Given the description of an element on the screen output the (x, y) to click on. 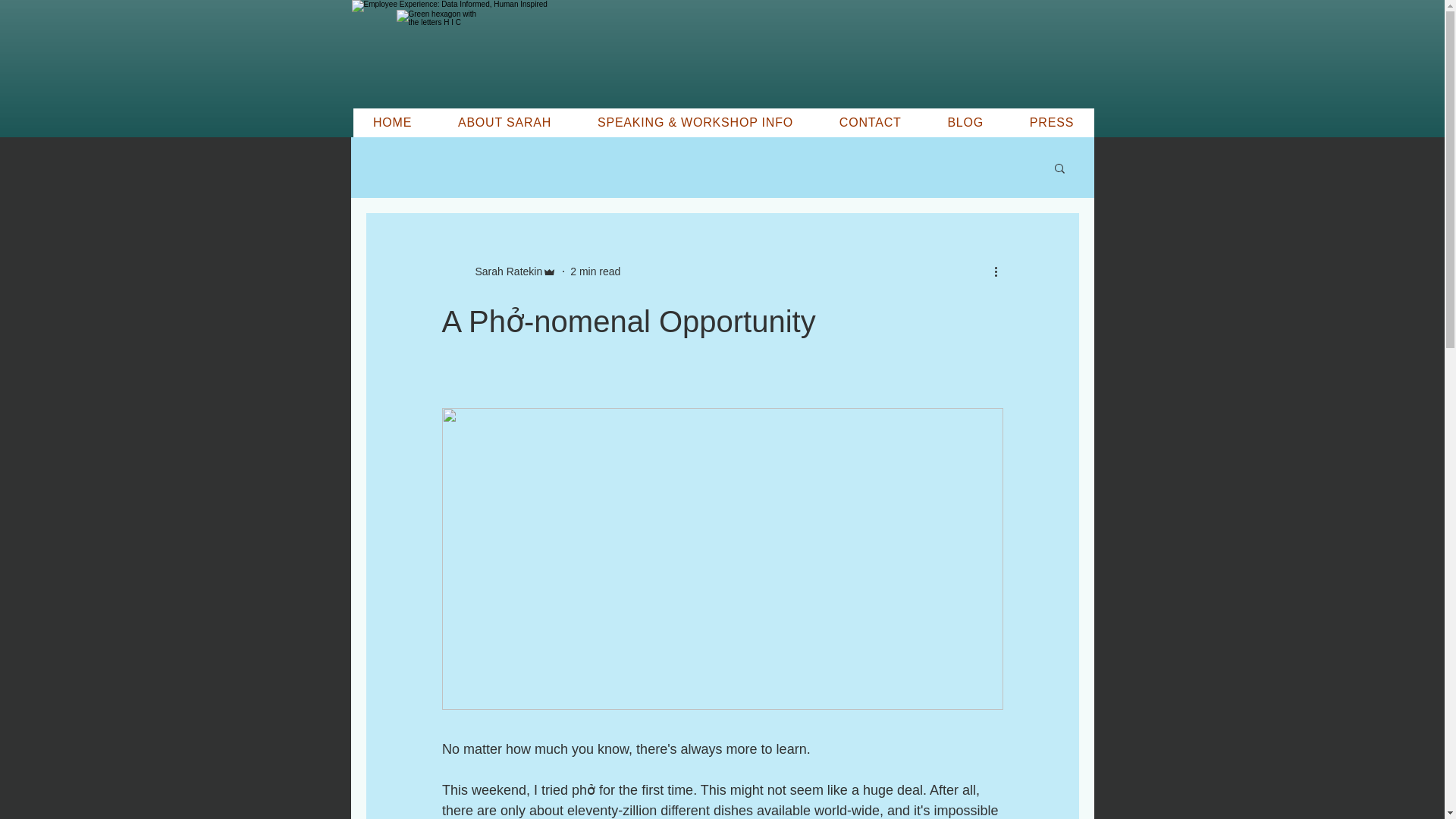
BLOG (965, 122)
PRESS (1051, 122)
2 min read (595, 271)
ABOUT SARAH (505, 122)
Happiness Is Courage 24 Rebrand Logo.png (438, 52)
Sarah Ratekin (503, 271)
CONTACT (869, 122)
Sarah Ratekin (498, 271)
HOME (392, 122)
